Given the description of an element on the screen output the (x, y) to click on. 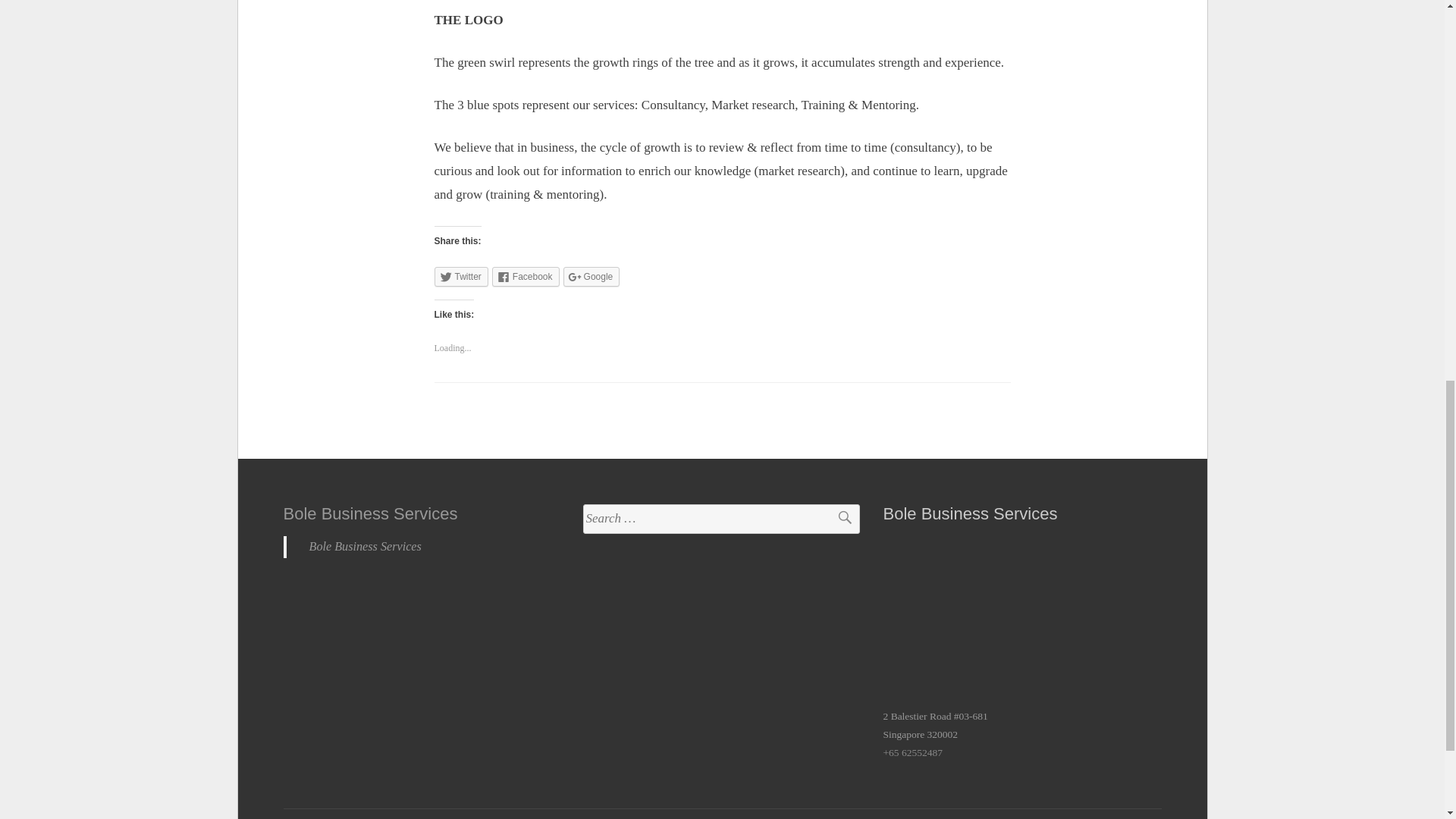
Facebook (525, 276)
Click to share on Facebook (525, 276)
Google (591, 276)
Search (836, 518)
Bole Business Services (370, 513)
Click to share on Twitter (460, 276)
Bole Business Services (365, 546)
Search (836, 518)
Twitter (460, 276)
Search (836, 518)
